Given the description of an element on the screen output the (x, y) to click on. 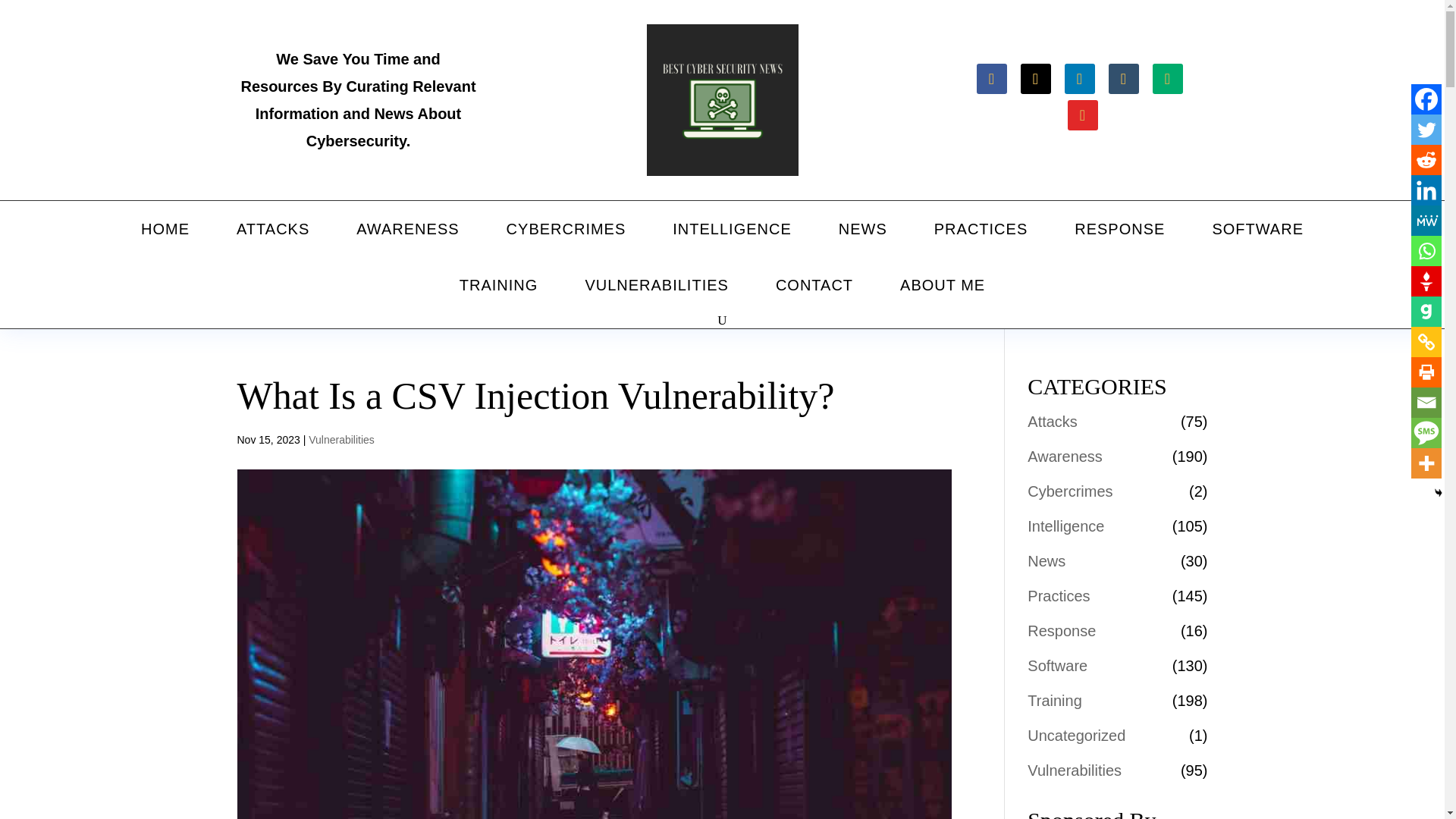
HOME (165, 228)
TRAINING (498, 284)
Follow on LinkedIn (1079, 78)
Follow on Facebook (991, 78)
CYBERCRIMES (567, 228)
INTELLIGENCE (732, 228)
ABOUT ME (942, 284)
Twitter (1425, 129)
SOFTWARE (1257, 228)
VULNERABILITIES (656, 284)
Follow on X (1035, 78)
AWARENESS (407, 228)
best-cyber-security-news (721, 100)
NEWS (863, 228)
ATTACKS (272, 228)
